Given the description of an element on the screen output the (x, y) to click on. 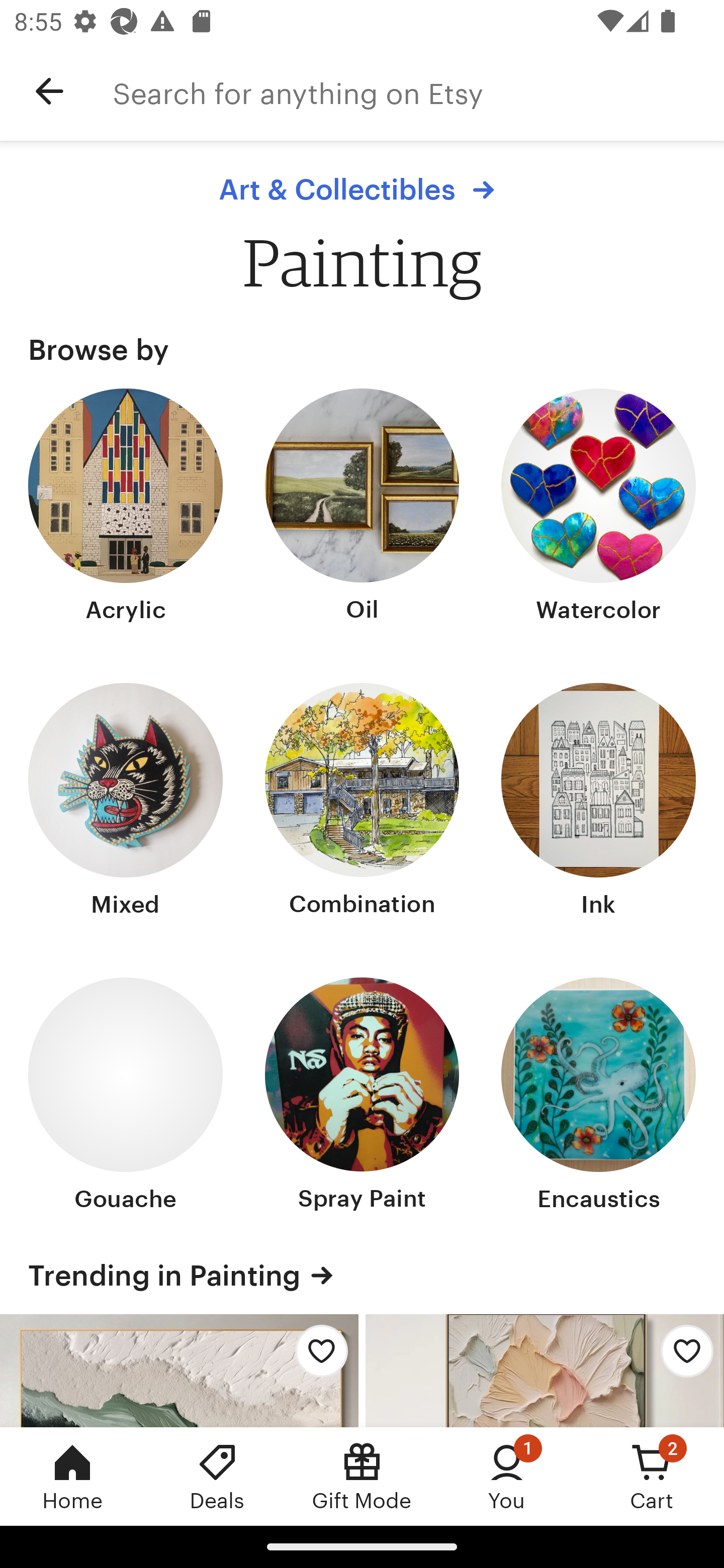
Navigate up (49, 91)
Search for anything on Etsy (418, 91)
Art & Collectibles (361, 189)
Acrylic (125, 507)
Oil (361, 507)
Watercolor (598, 507)
Mixed (125, 802)
Combination (361, 802)
Ink (598, 802)
Gouache (125, 1095)
Spray Paint (361, 1095)
Encaustics (598, 1095)
Trending in Painting  (361, 1275)
Deals (216, 1475)
Gift Mode (361, 1475)
You, 1 new notification You (506, 1475)
Cart, 2 new notifications Cart (651, 1475)
